Given the description of an element on the screen output the (x, y) to click on. 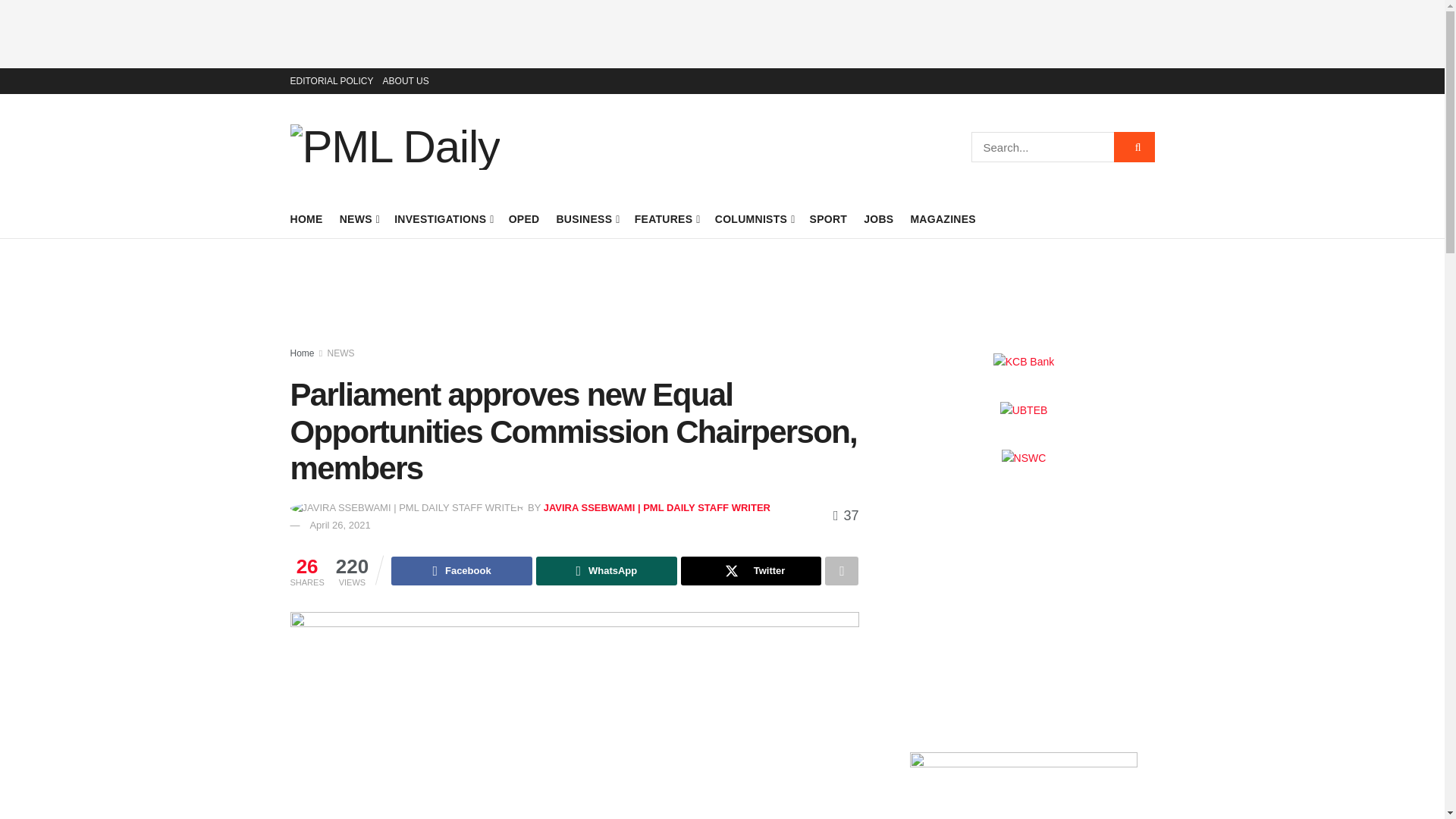
EDITORIAL POLICY (330, 80)
FEATURES (666, 219)
NEWS (358, 219)
HOME (305, 219)
OPED (524, 219)
BUSINESS (586, 219)
SPORT (828, 219)
COLUMNISTS (753, 219)
JOBS (878, 219)
ABOUT US (405, 80)
